Given the description of an element on the screen output the (x, y) to click on. 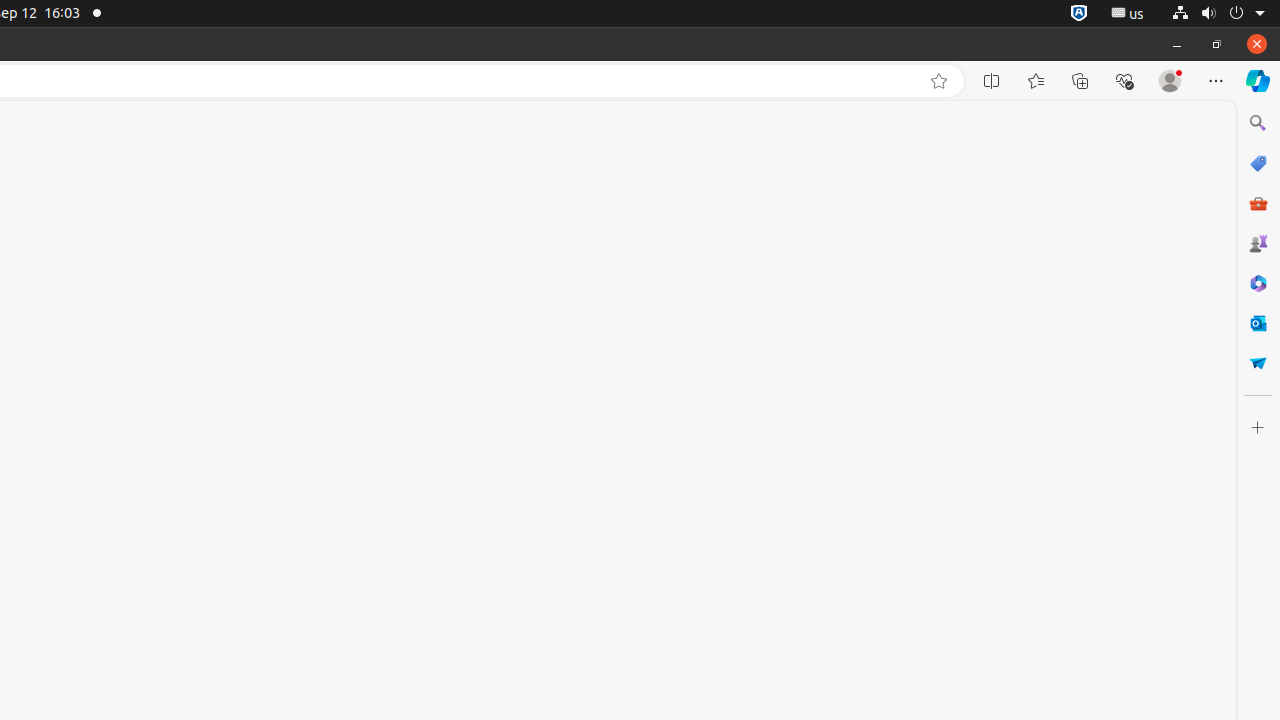
Add this page to favorites (Ctrl+D) Element type: push-button (939, 81)
Collections Element type: push-button (1080, 81)
Drop Element type: push-button (1258, 363)
Customize Element type: push-button (1258, 428)
Profile 1 Profile, Please sign in Element type: push-button (1170, 81)
